Given the description of an element on the screen output the (x, y) to click on. 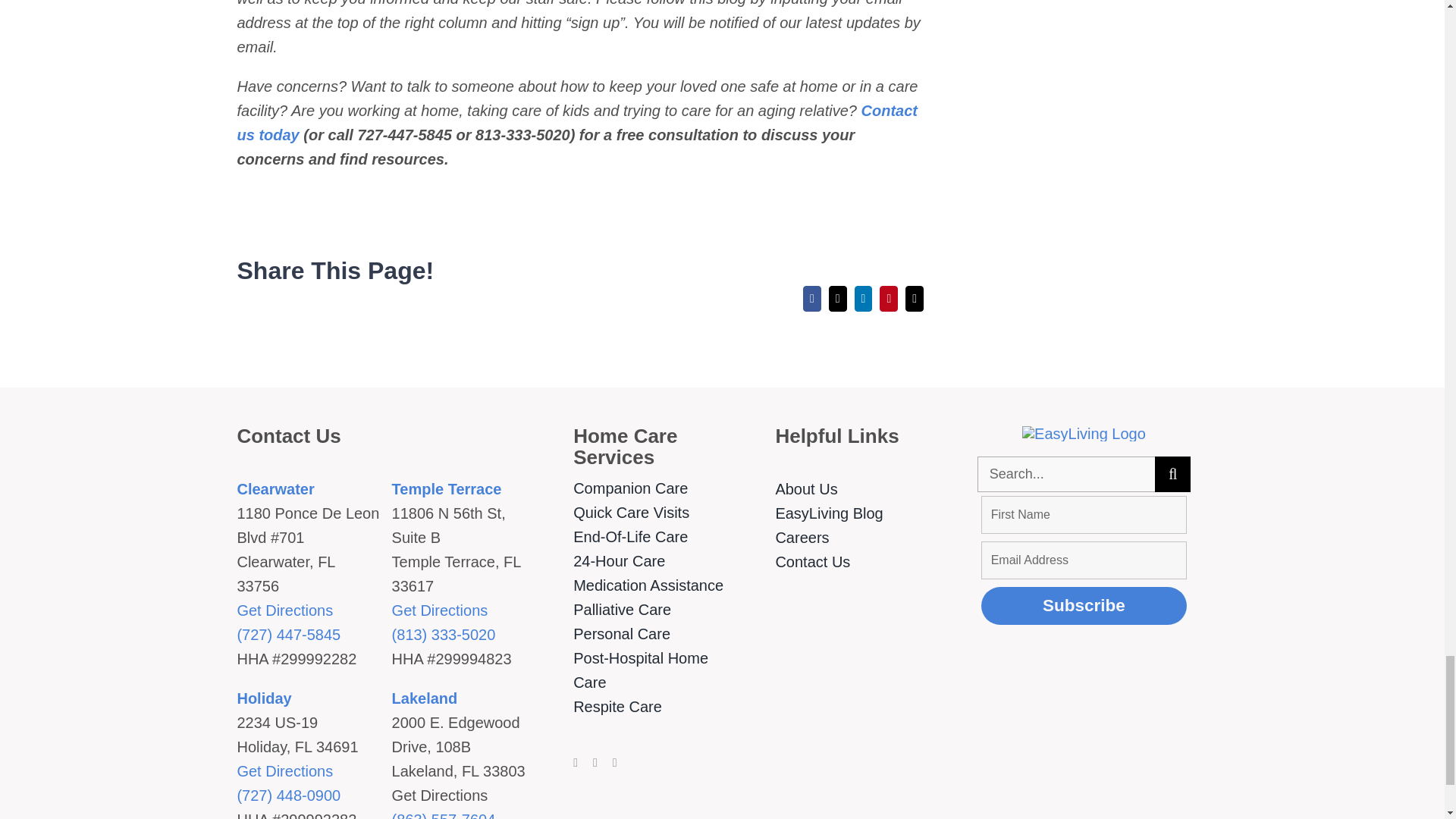
Subscribe (1084, 605)
